Given the description of an element on the screen output the (x, y) to click on. 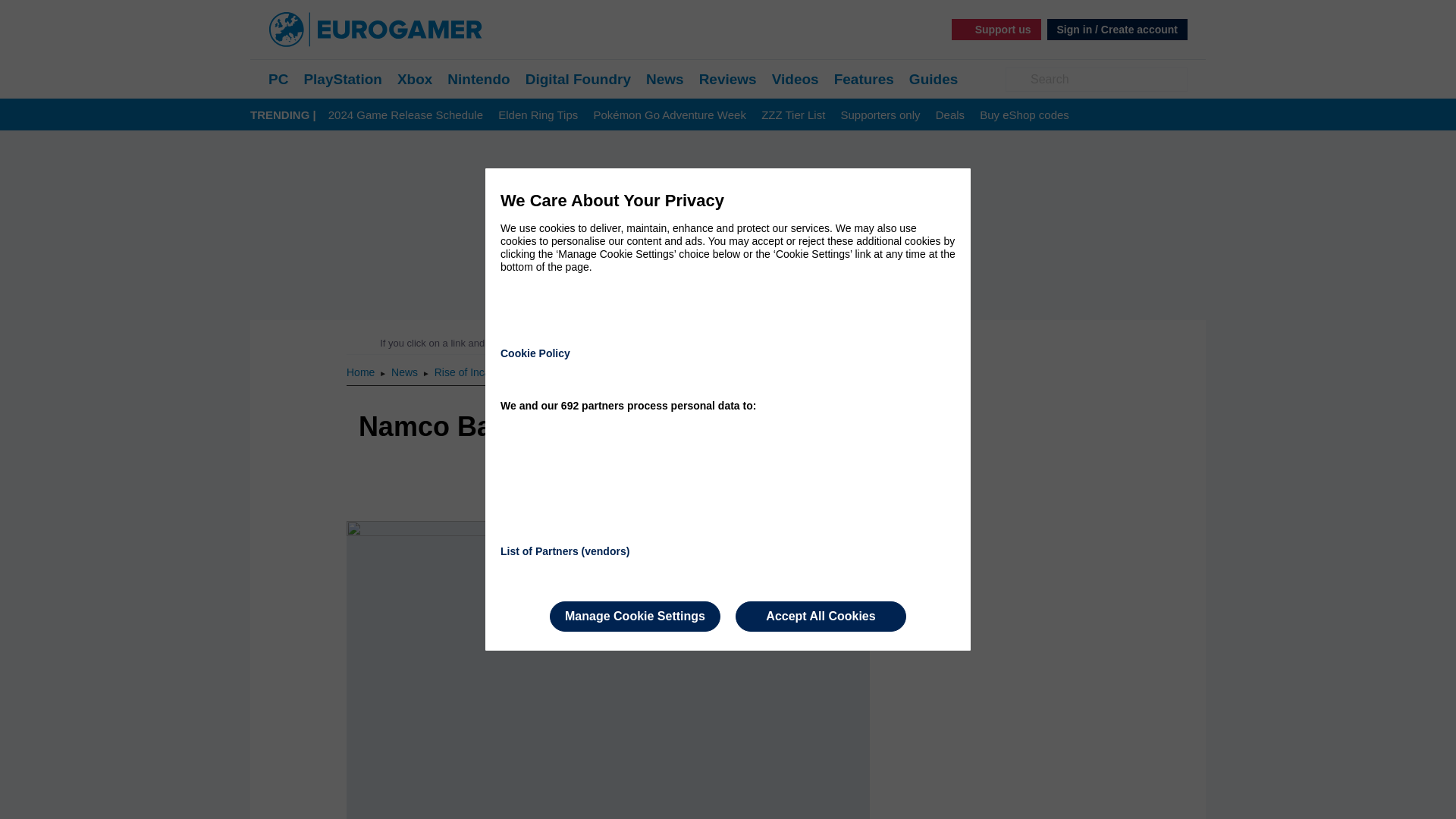
Support us (996, 29)
Xbox (414, 78)
PlayStation (341, 78)
Nintendo (477, 78)
Elden Ring Tips (537, 114)
Nintendo (477, 78)
Guides (933, 78)
Buy eShop codes (1023, 114)
Digital Foundry (577, 78)
Supporters only (880, 114)
